Given the description of an element on the screen output the (x, y) to click on. 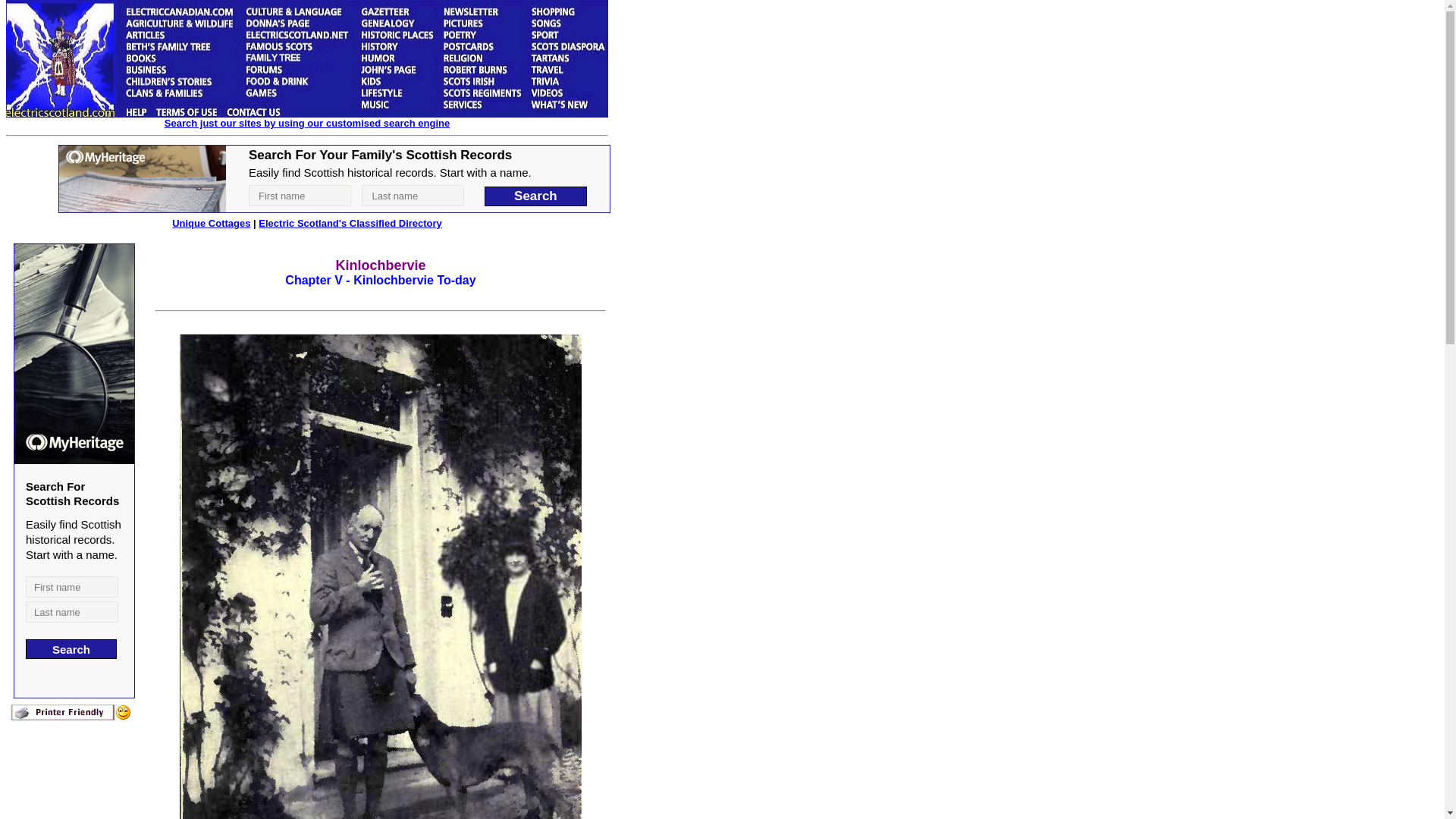
Electric Scotland's Classified Directory (350, 223)
advertisement (334, 178)
Unique Cottages (210, 223)
Search just our sites by using our customised search engine (306, 122)
